Given the description of an element on the screen output the (x, y) to click on. 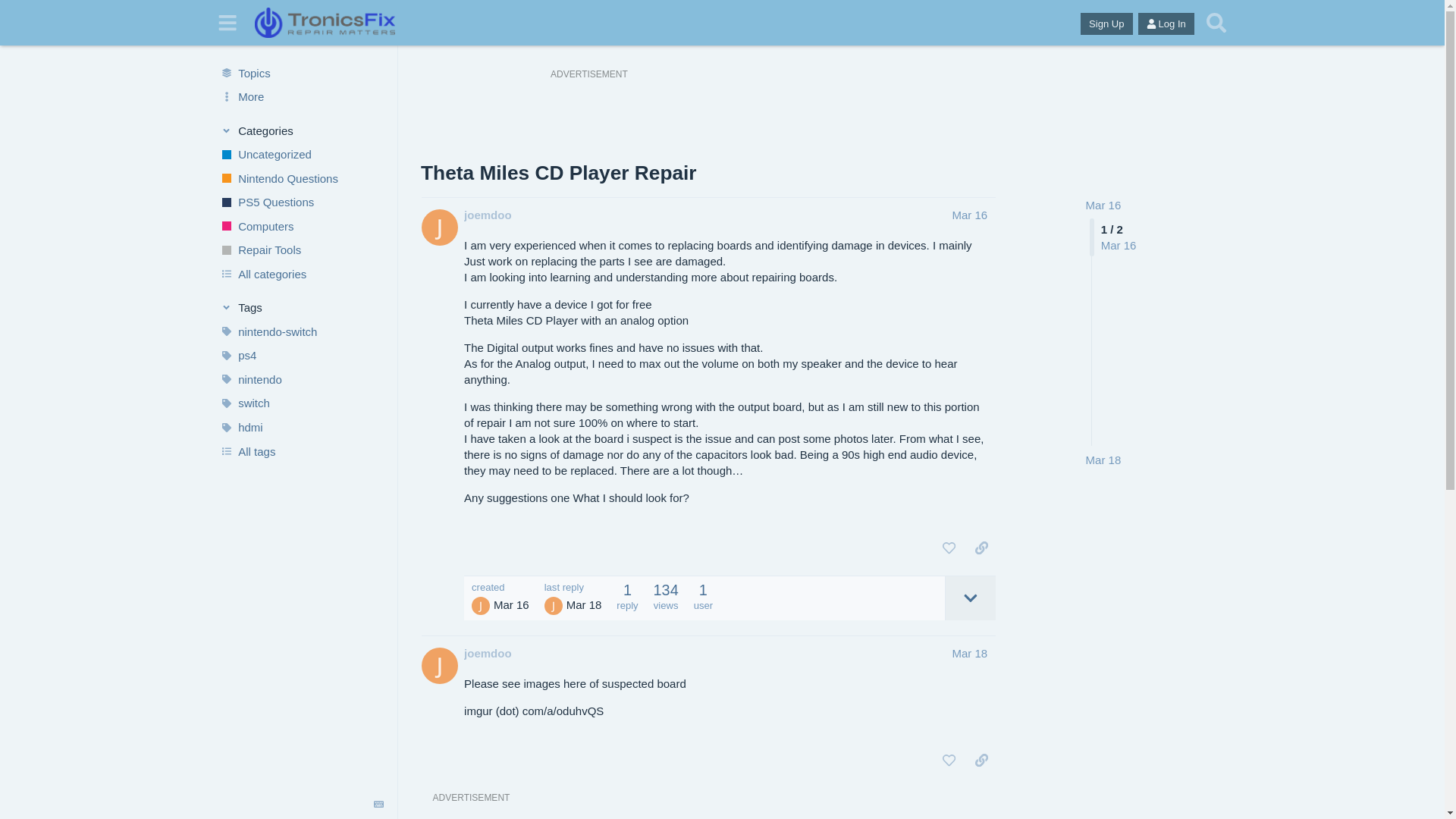
More (301, 96)
Computers (301, 225)
hdmi (301, 427)
Mar 18 (1103, 459)
Log In (1165, 24)
All topics (301, 72)
nintendo-switch (301, 331)
Toggle section (301, 130)
Mar 16 (1103, 205)
PS5 Questions (301, 202)
All categories (301, 274)
joemdoo (488, 652)
Mar 16 (969, 214)
joemdoo (488, 214)
